Given the description of an element on the screen output the (x, y) to click on. 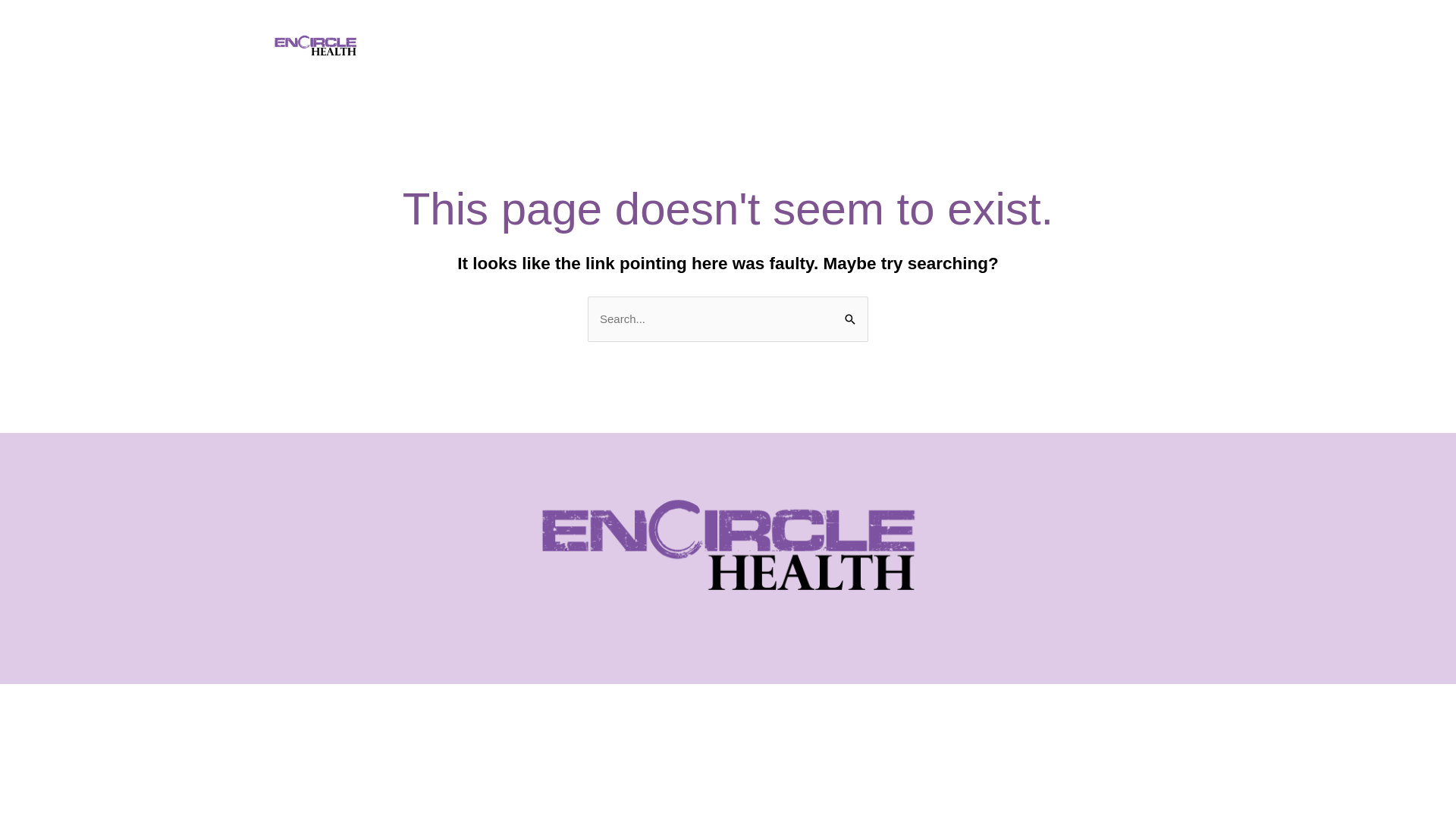
Search Element type: text (851, 311)
